Given the description of an element on the screen output the (x, y) to click on. 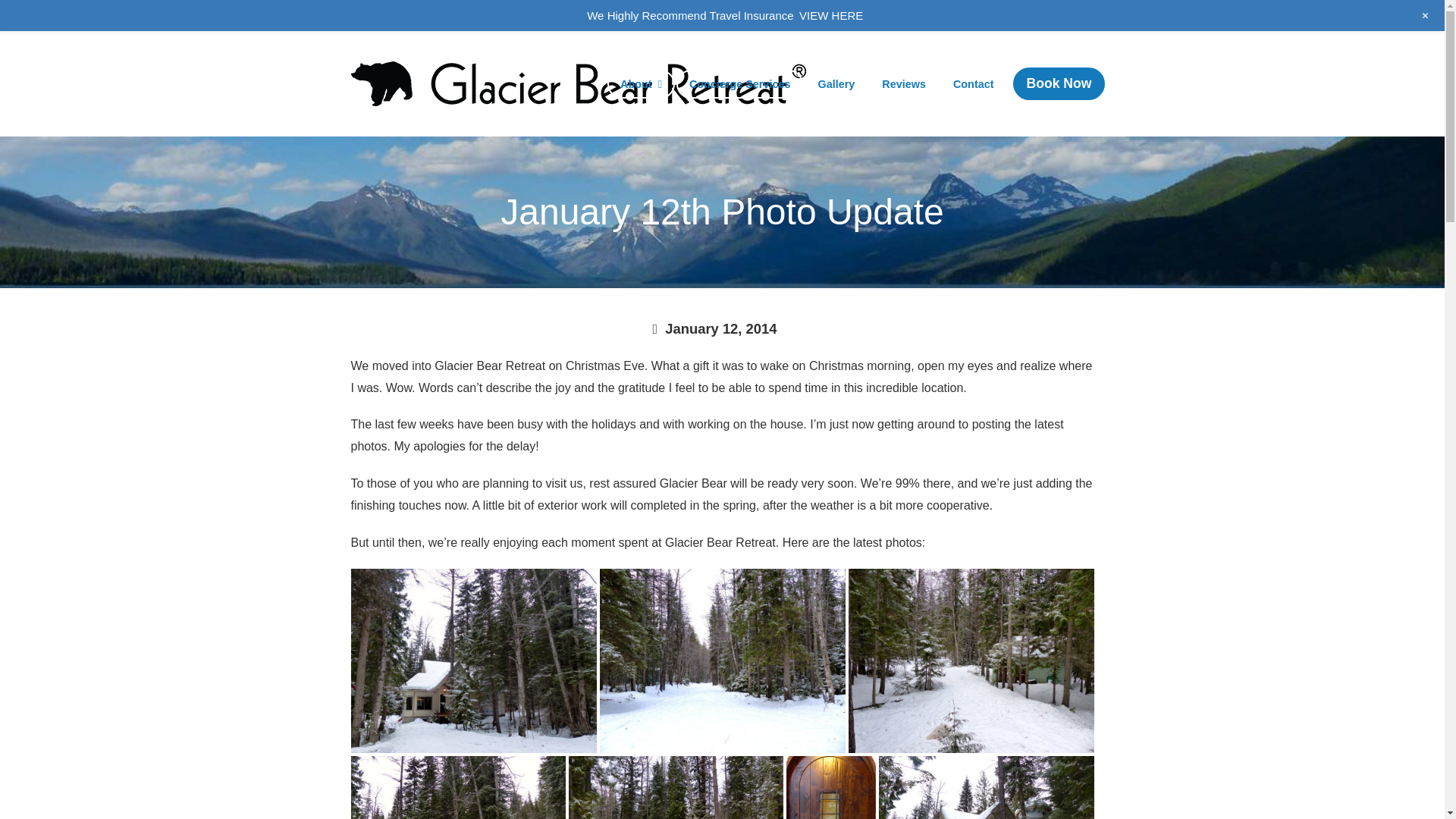
Concierge Services (740, 84)
Contact (973, 84)
Reviews (903, 84)
About (641, 84)
Book Now (1056, 84)
Gallery (835, 84)
